Given the description of an element on the screen output the (x, y) to click on. 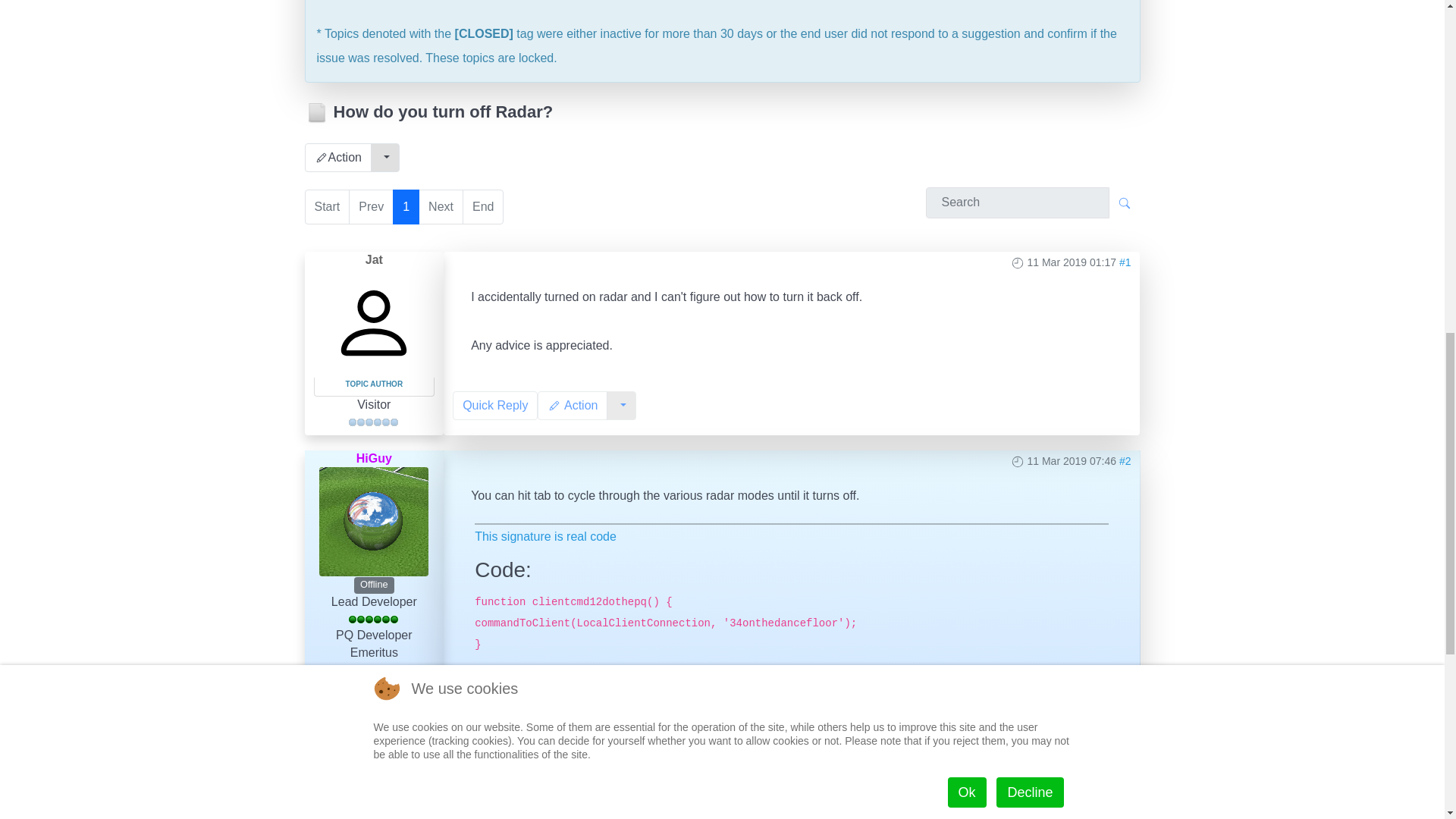
11 Mar 2019 07:46 (1071, 460)
Enter here your item to search (1016, 202)
Personal Website (373, 769)
11 Mar 2019 01:17 (1071, 262)
Gender: Male (372, 745)
Enter here your item to search (1016, 808)
